Given the description of an element on the screen output the (x, y) to click on. 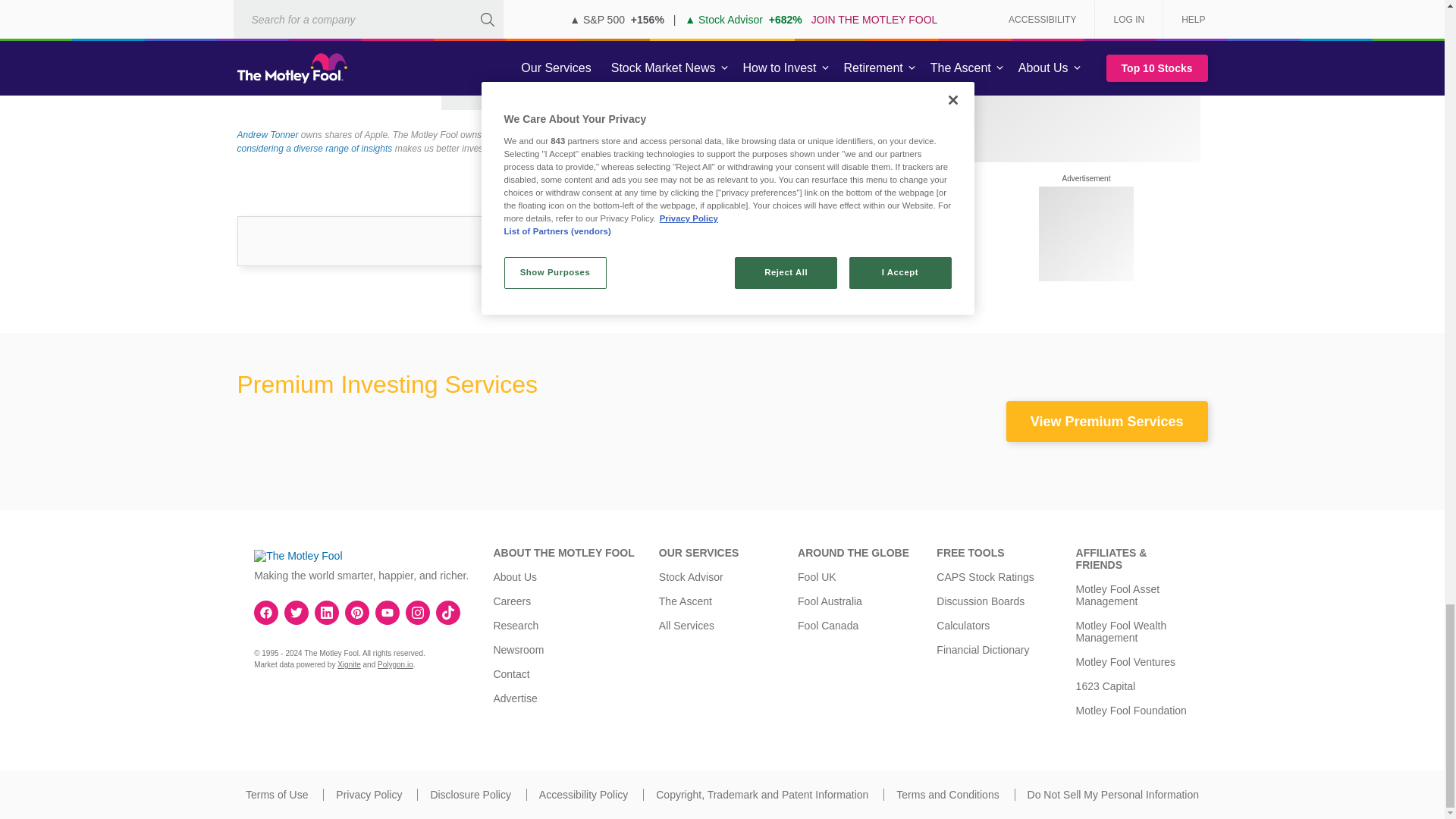
Do Not Sell My Personal Information. (1112, 794)
Copyright, Trademark and Patent Information (761, 794)
Disclosure Policy (470, 794)
Terms and Conditions (947, 794)
Accessibility Policy (582, 794)
Privacy Policy (368, 794)
Terms of Use (276, 794)
